Given the description of an element on the screen output the (x, y) to click on. 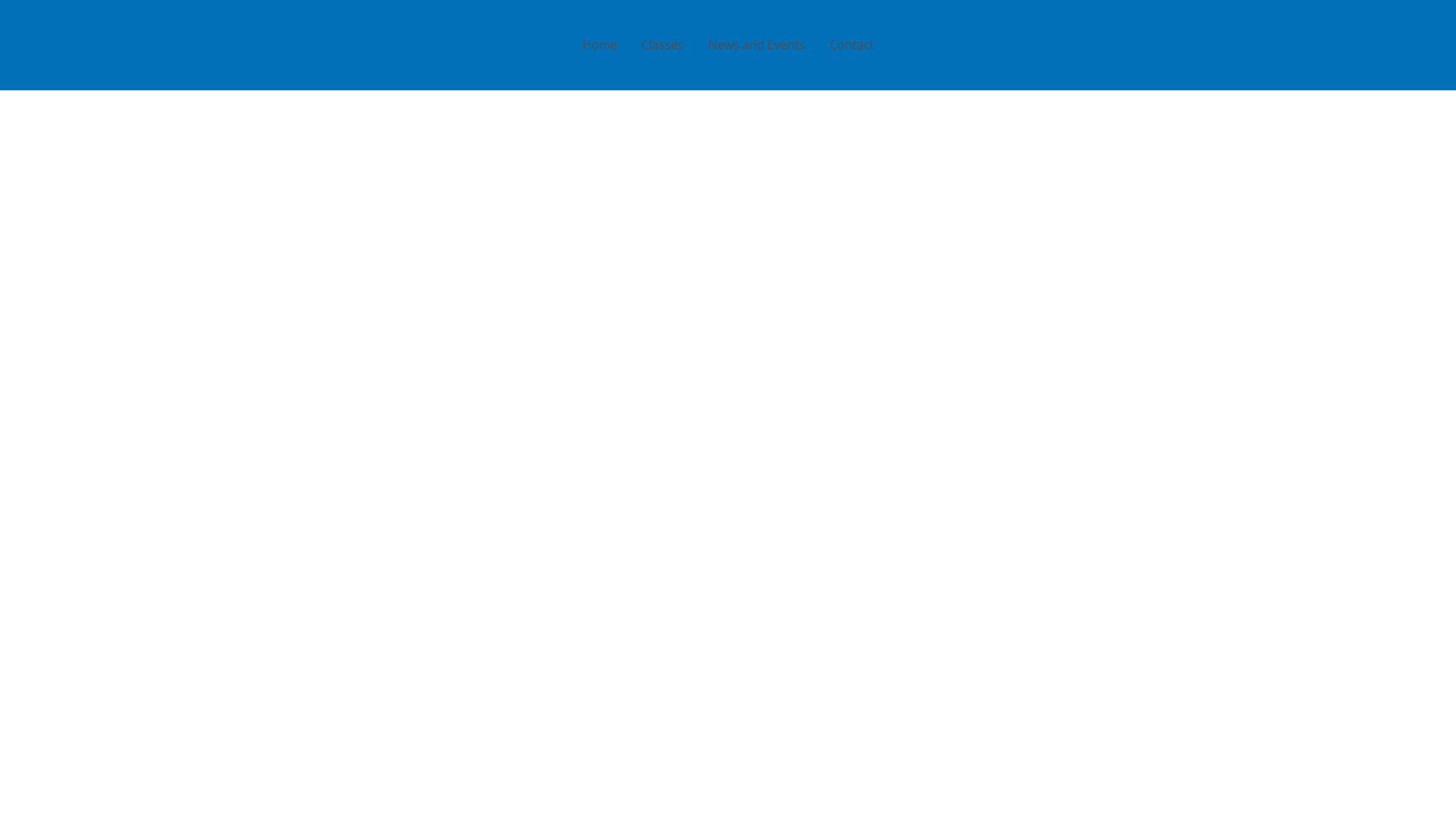
Contact Element type: text (851, 45)
Classes Element type: text (662, 45)
Home Element type: text (599, 45)
News and Events Element type: text (756, 45)
